Given the description of an element on the screen output the (x, y) to click on. 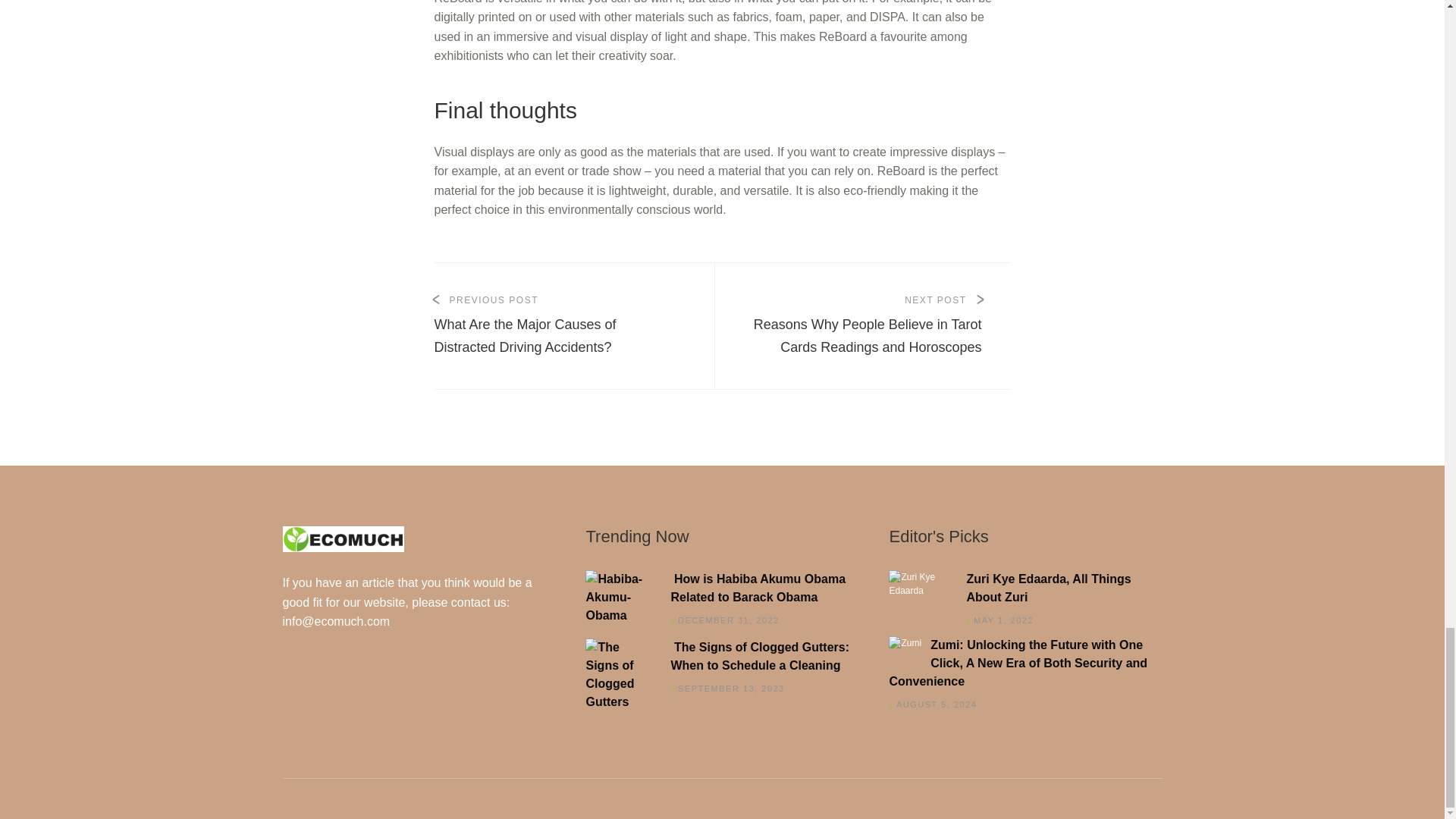
Zuri Kye Edaarda, All Things About Zuri (1021, 588)
 The Signs of Clogged Gutters: When to Schedule a Cleaning (717, 656)
 How is Habiba Akumu Obama Related to Barack Obama (717, 588)
